Given the description of an element on the screen output the (x, y) to click on. 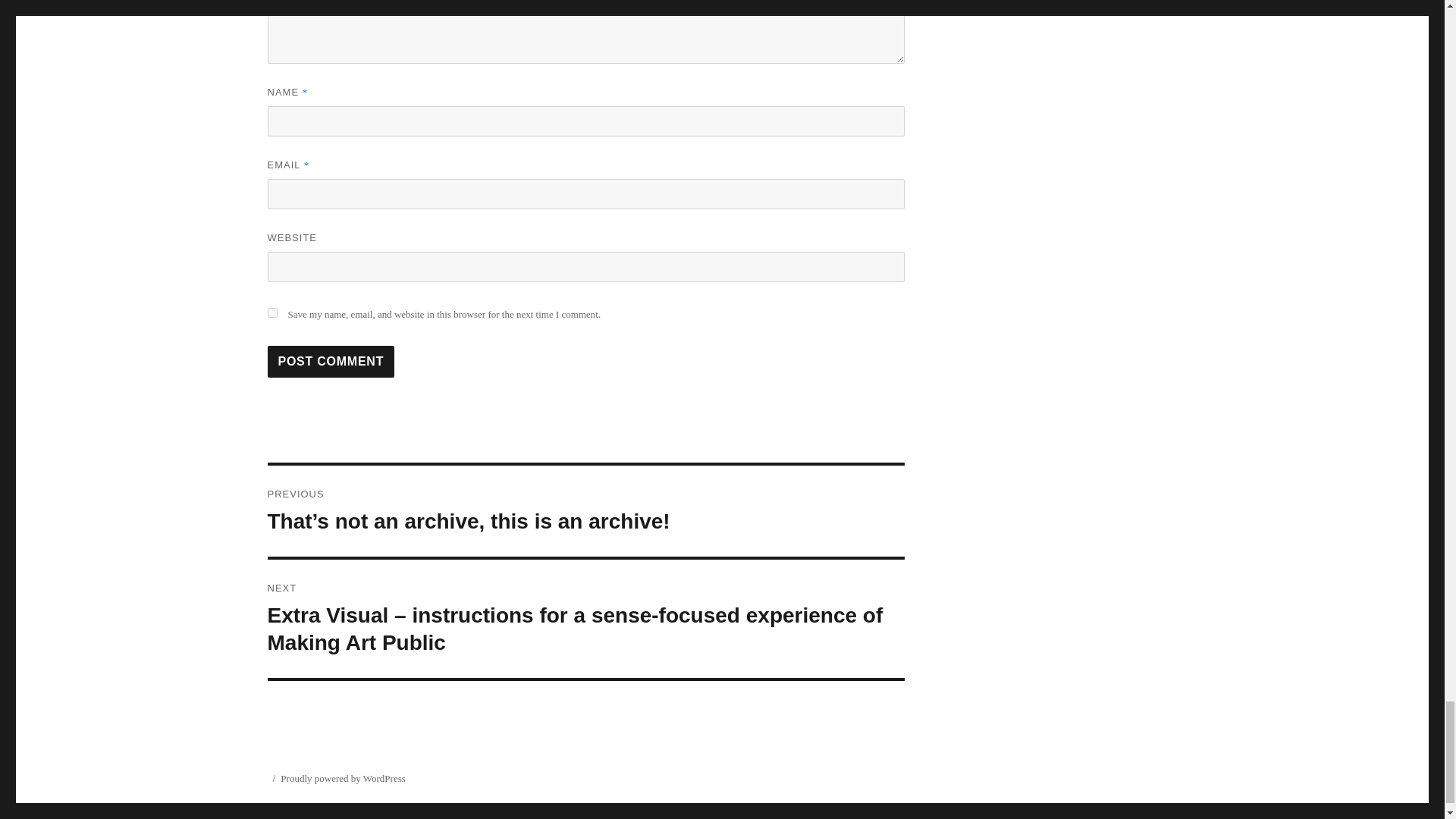
yes (271, 312)
Post Comment (330, 361)
Post Comment (330, 361)
